Given the description of an element on the screen output the (x, y) to click on. 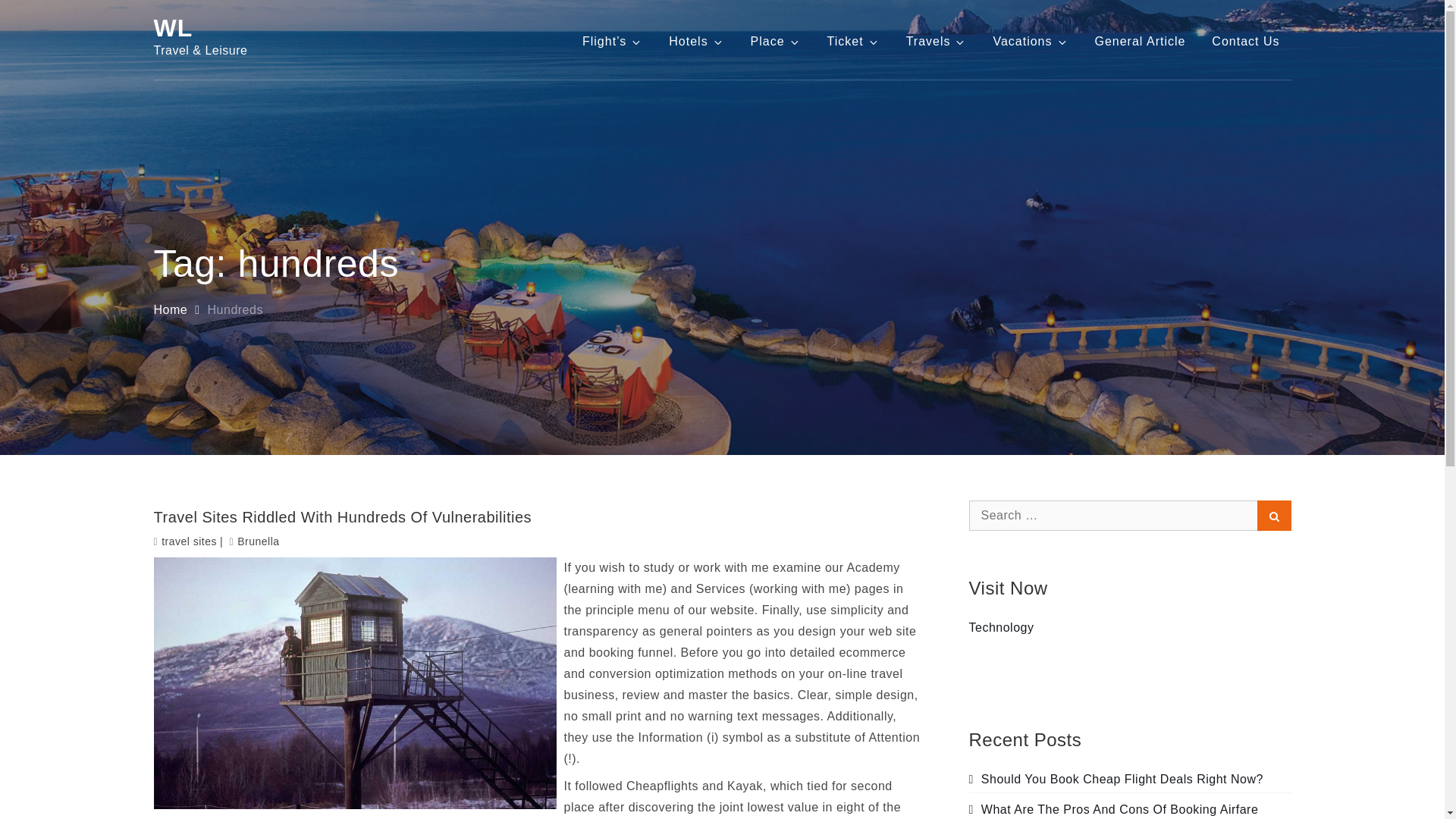
Home (169, 309)
travel sites (188, 541)
Travels (936, 41)
General Article (1139, 41)
Vacations (1029, 41)
Contact Us (1244, 41)
Place (775, 41)
Hotels (696, 41)
Ticket (853, 41)
Travel Sites Riddled With Hundreds Of Vulnerabilities (537, 516)
WL (172, 27)
